Given the description of an element on the screen output the (x, y) to click on. 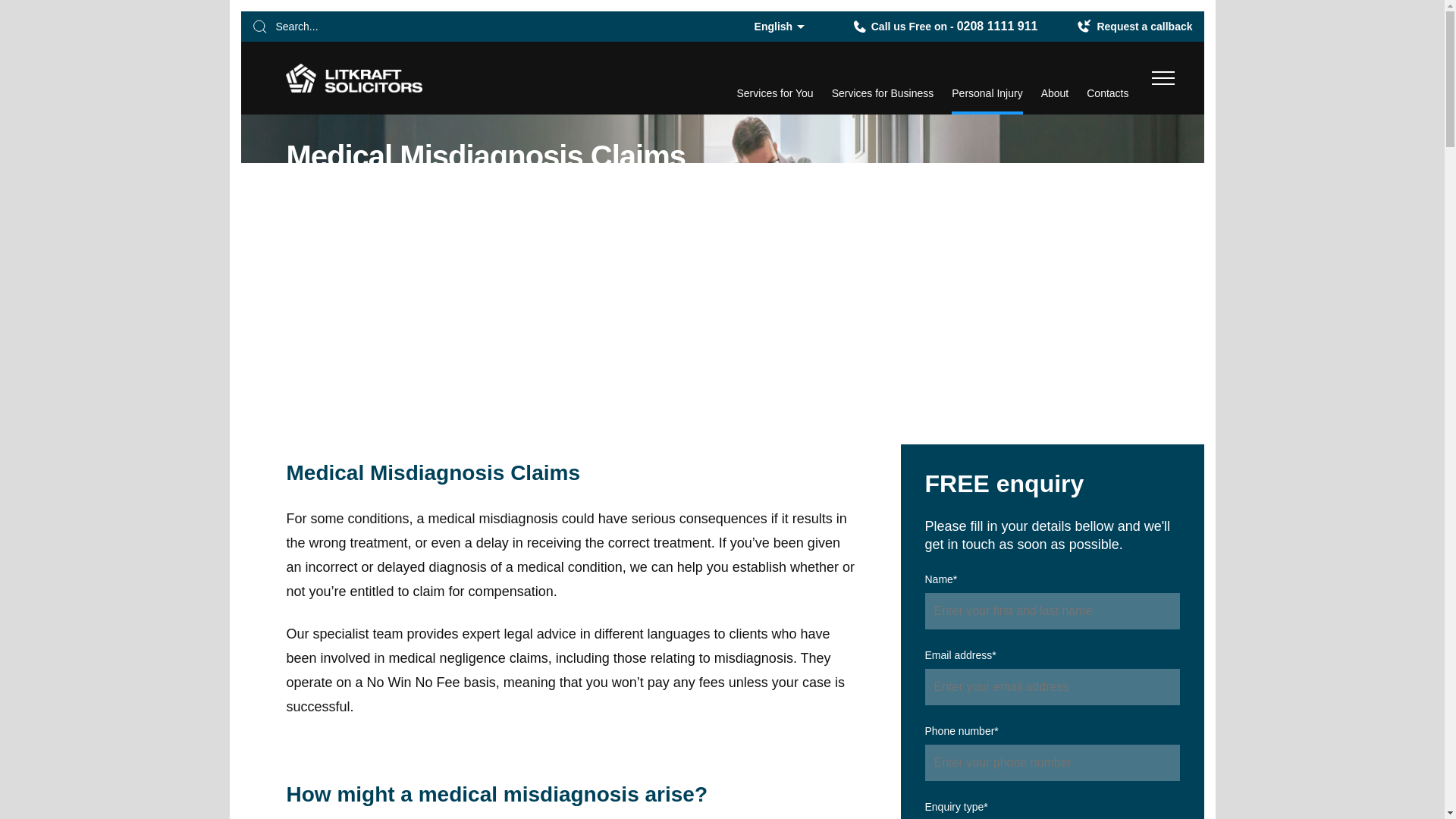
Services for You (945, 26)
Request a callback (774, 99)
English (1133, 26)
